Given the description of an element on the screen output the (x, y) to click on. 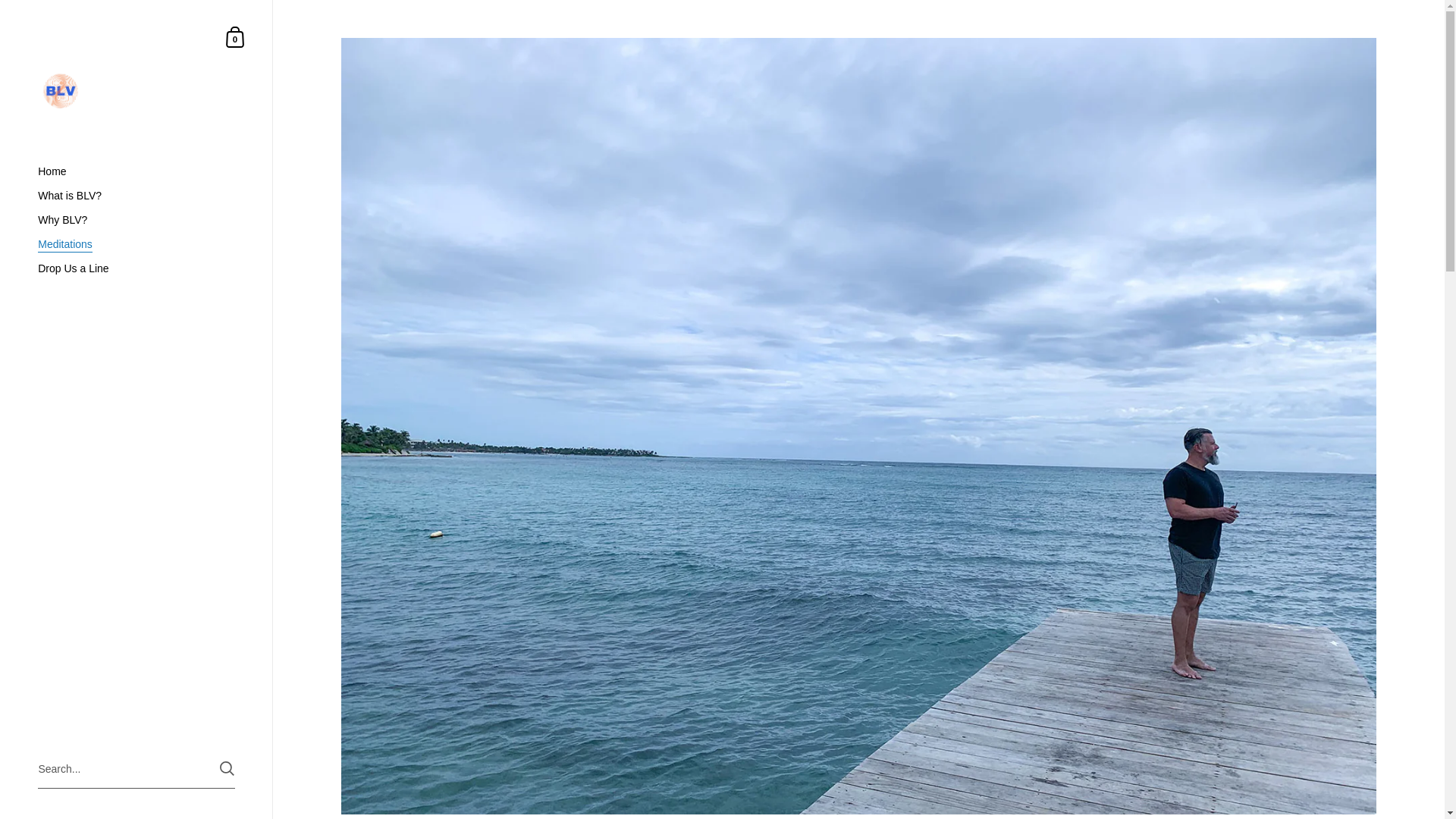
What is BLV? (136, 195)
Why BLV? (136, 219)
Shopping Cart (235, 35)
Home (235, 35)
Drop Us a Line (136, 170)
Meditations (136, 268)
